Given the description of an element on the screen output the (x, y) to click on. 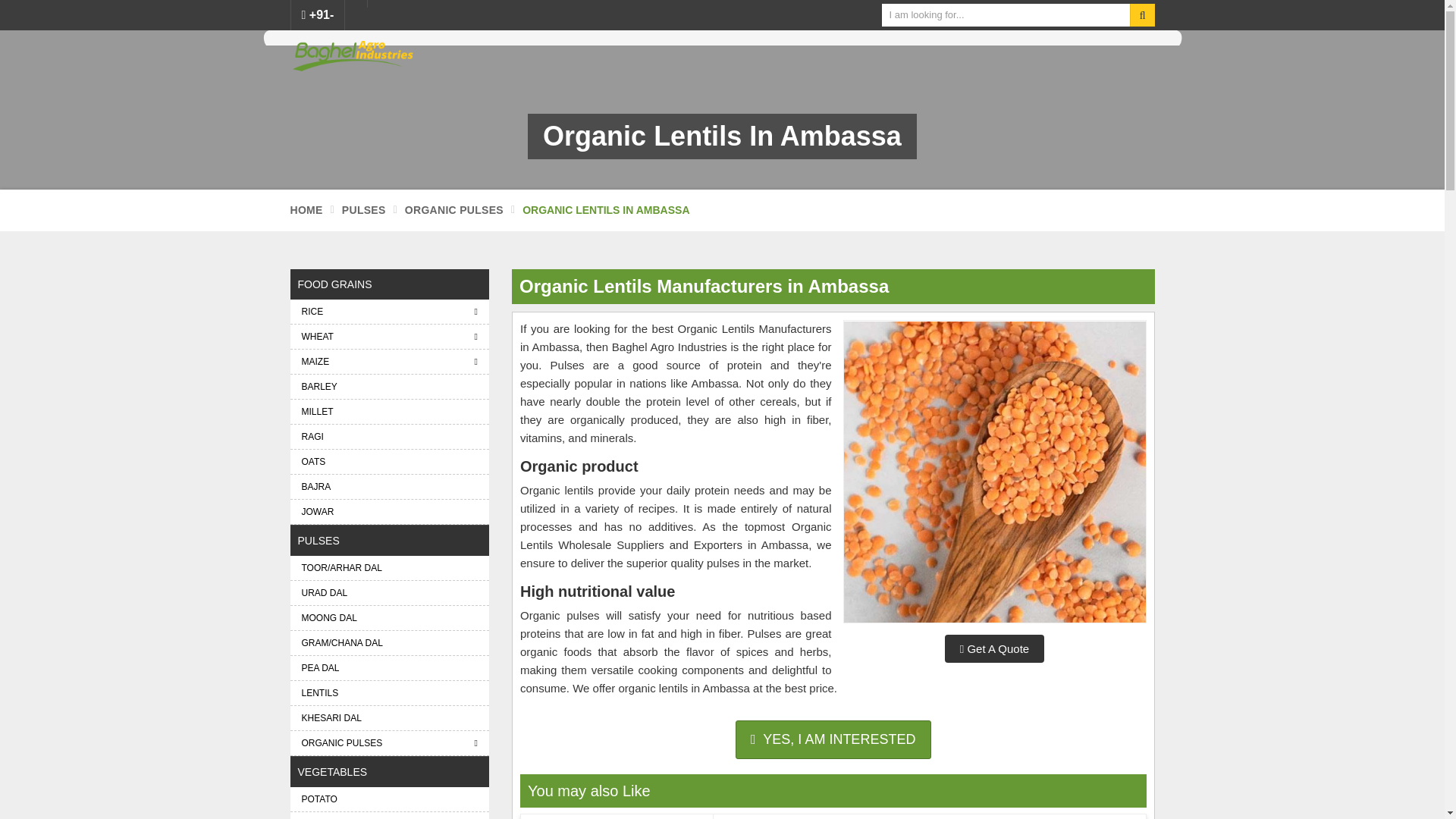
Get A Quote (993, 648)
Organic Pulses (453, 209)
PULSES (363, 209)
RICE (389, 311)
Baghel Agro Industries (351, 55)
Get A Quote (993, 648)
ORGANIC PULSES (453, 209)
 Organic Lentils Manufacturers in Ambassa (995, 471)
YES, I AM INTERESTED (833, 740)
FOOD GRAINS (389, 284)
Pulses (363, 209)
Call Us (317, 15)
Get A Quote (833, 740)
 Organic Lentils Manufacturers in Ambassa (993, 472)
